Given the description of an element on the screen output the (x, y) to click on. 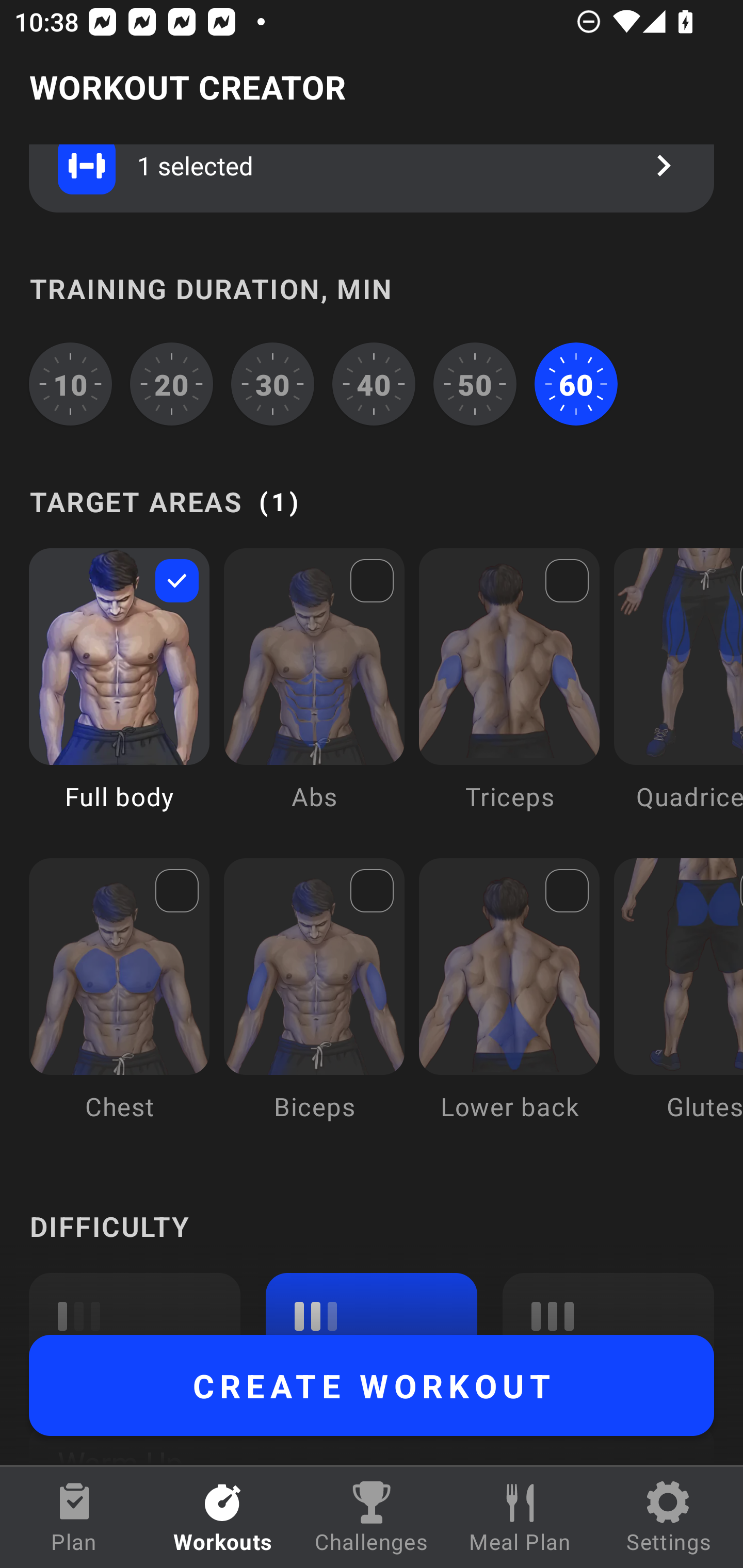
1 selected (371, 178)
10 (70, 384)
20 (171, 384)
30 (272, 384)
40 (373, 384)
50 (474, 384)
60 (575, 384)
Abs (313, 694)
Triceps (509, 694)
Quadriceps (678, 694)
Chest (118, 1003)
Biceps (313, 1003)
Lower back (509, 1003)
Glutes (678, 1003)
CREATE WORKOUT (371, 1385)
 Plan  (74, 1517)
 Challenges  (371, 1517)
 Meal Plan  (519, 1517)
 Settings  (668, 1517)
